Given the description of an element on the screen output the (x, y) to click on. 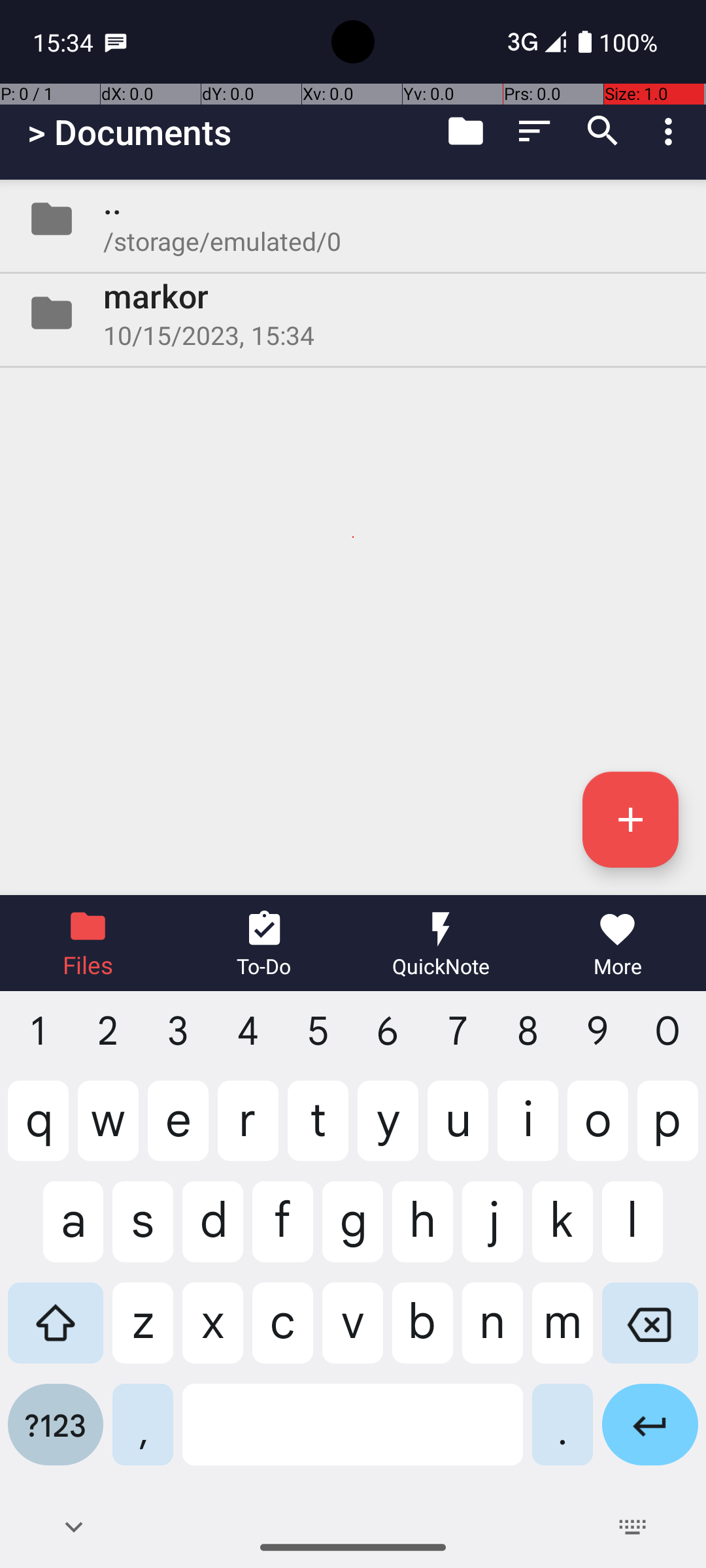
> Documents Element type: android.widget.TextView (129, 131)
Folder .. /storage/emulated/0/Documents Element type: android.widget.LinearLayout (353, 218)
Folder markor  Element type: android.widget.LinearLayout (353, 312)
